Given the description of an element on the screen output the (x, y) to click on. 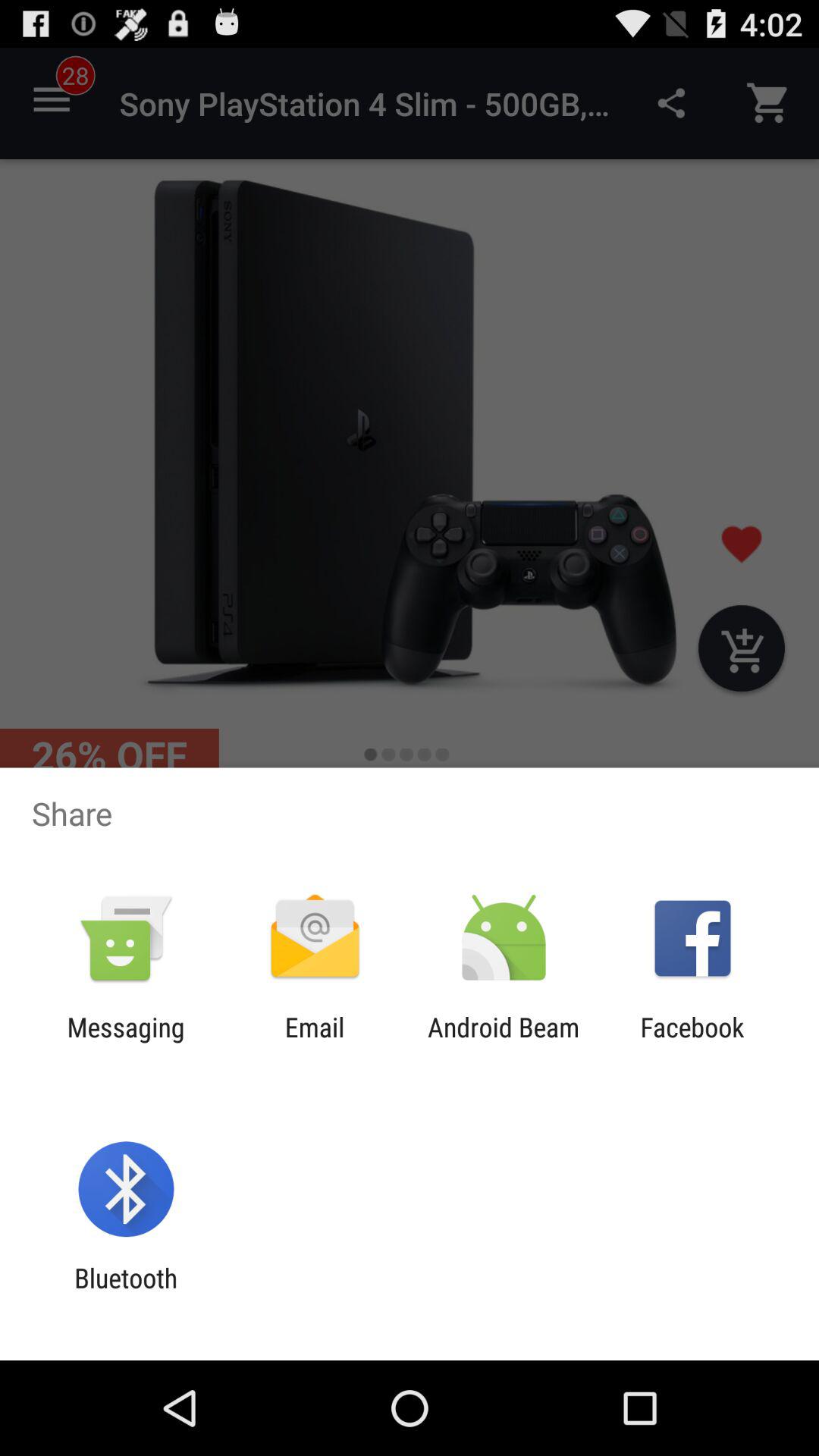
turn off android beam icon (503, 1042)
